Given the description of an element on the screen output the (x, y) to click on. 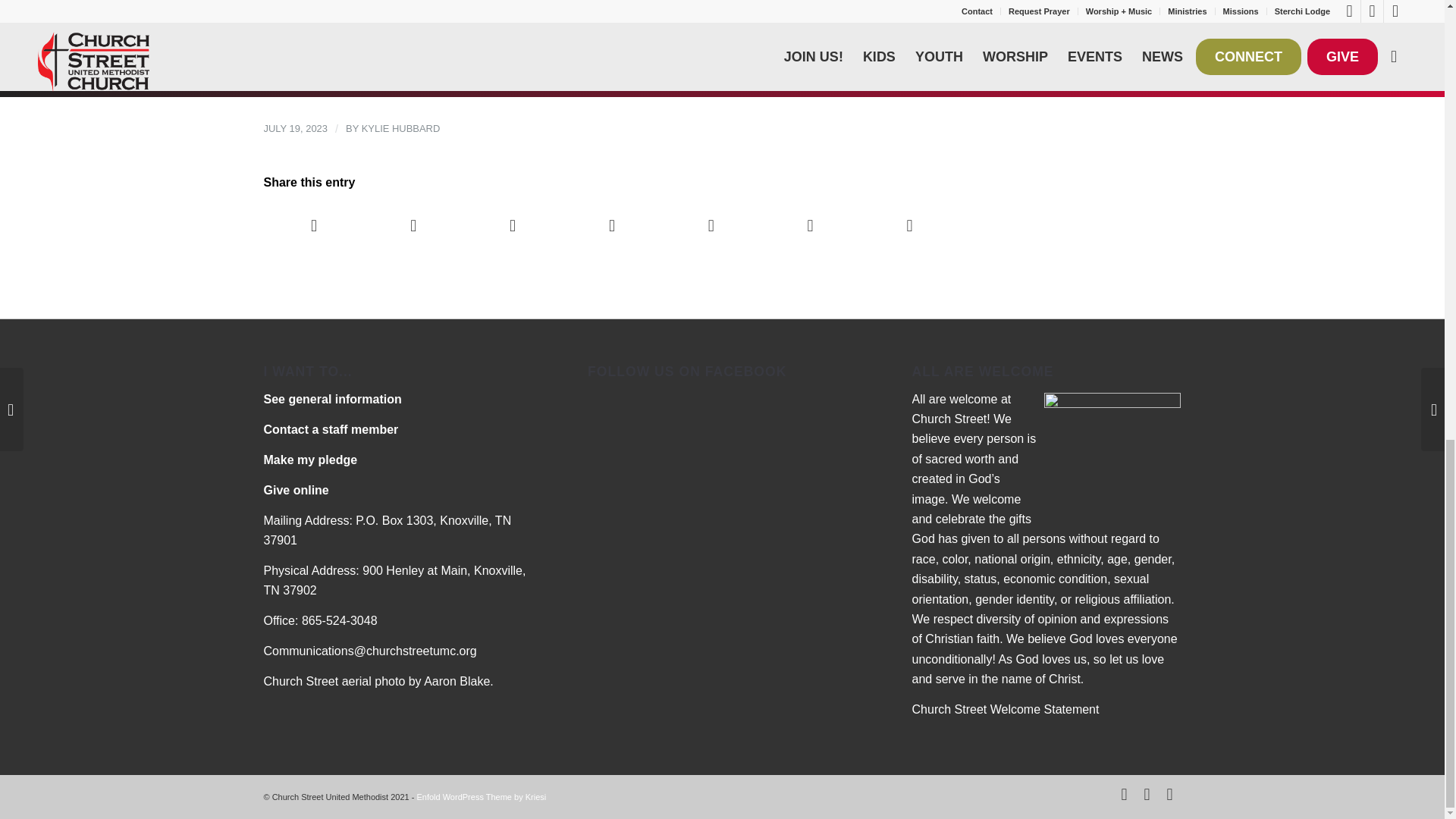
Posts by Kylie Hubbard (401, 128)
